Given the description of an element on the screen output the (x, y) to click on. 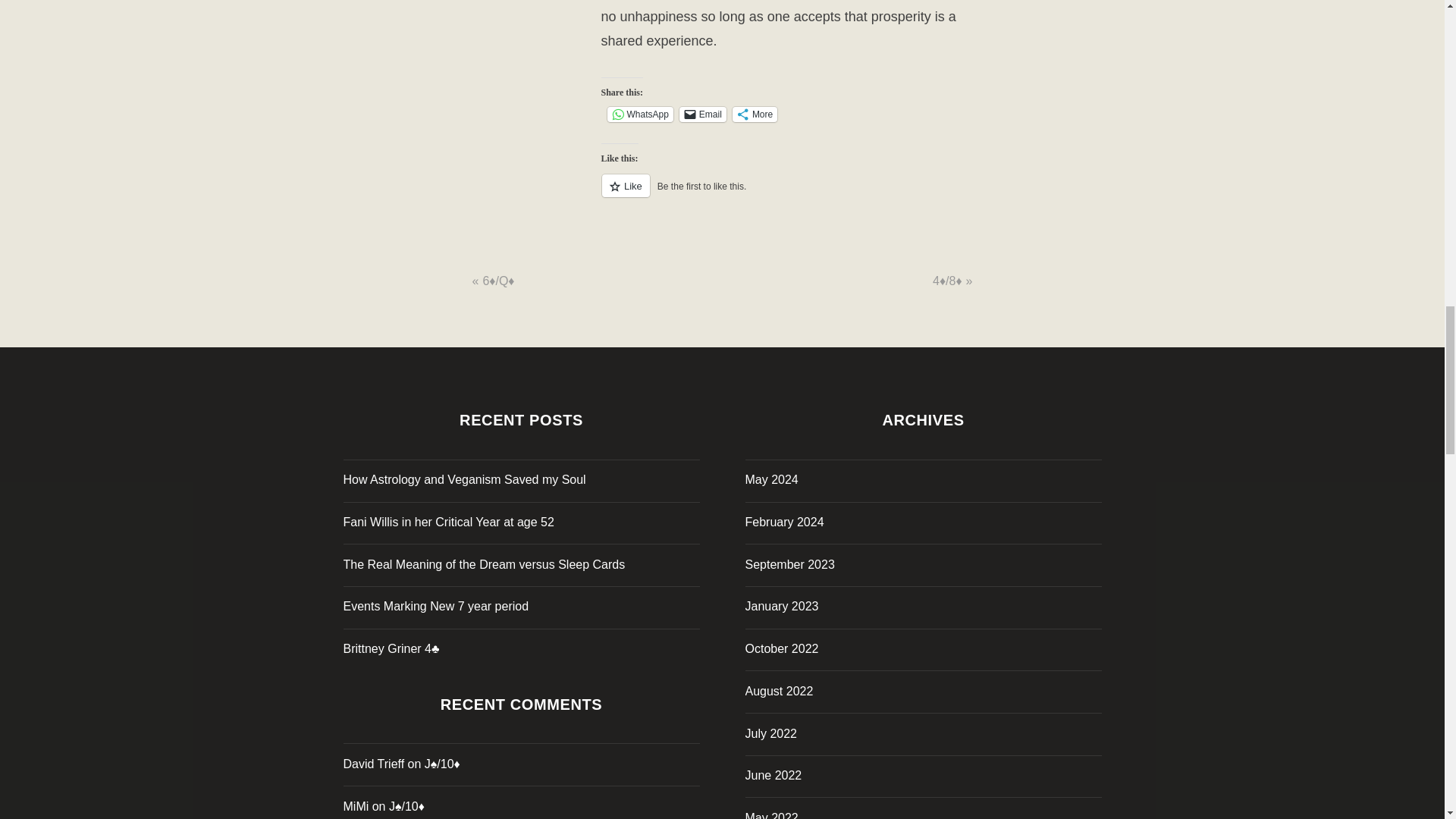
Events Marking New 7 year period (435, 605)
David Trieff (373, 763)
More (754, 114)
Fani Willis in her Critical Year at age 52 (447, 521)
Like or Reblog (785, 194)
WhatsApp (639, 114)
How Astrology and Veganism Saved my Soul (463, 479)
The Real Meaning of the Dream versus Sleep Cards (483, 563)
Click to email a link to a friend (702, 114)
Email (702, 114)
Click to share on WhatsApp (639, 114)
